Given the description of an element on the screen output the (x, y) to click on. 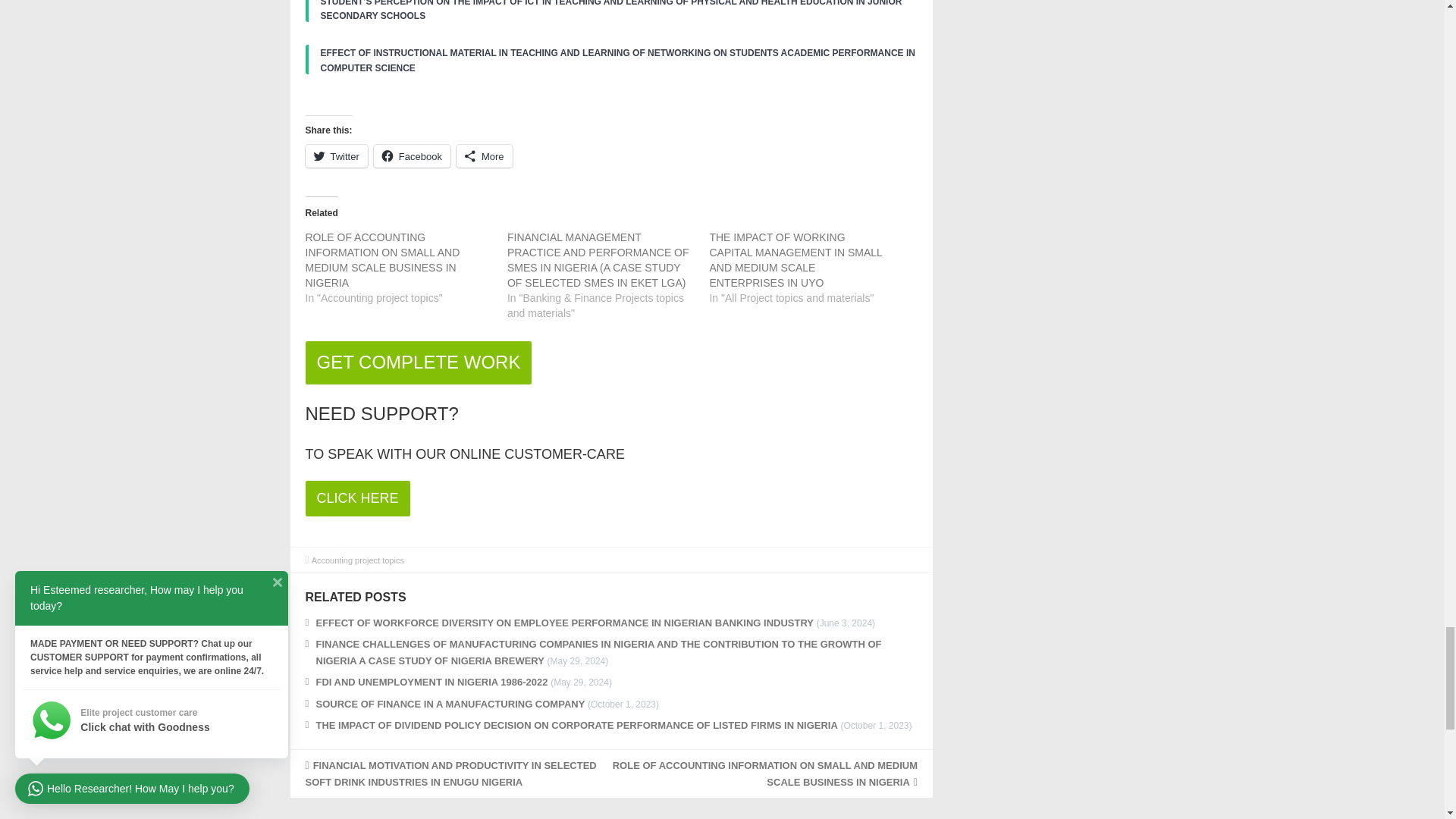
Click to share on Twitter (335, 155)
Click to share on Facebook (411, 155)
View all posts in Accounting project topics (357, 560)
